Given the description of an element on the screen output the (x, y) to click on. 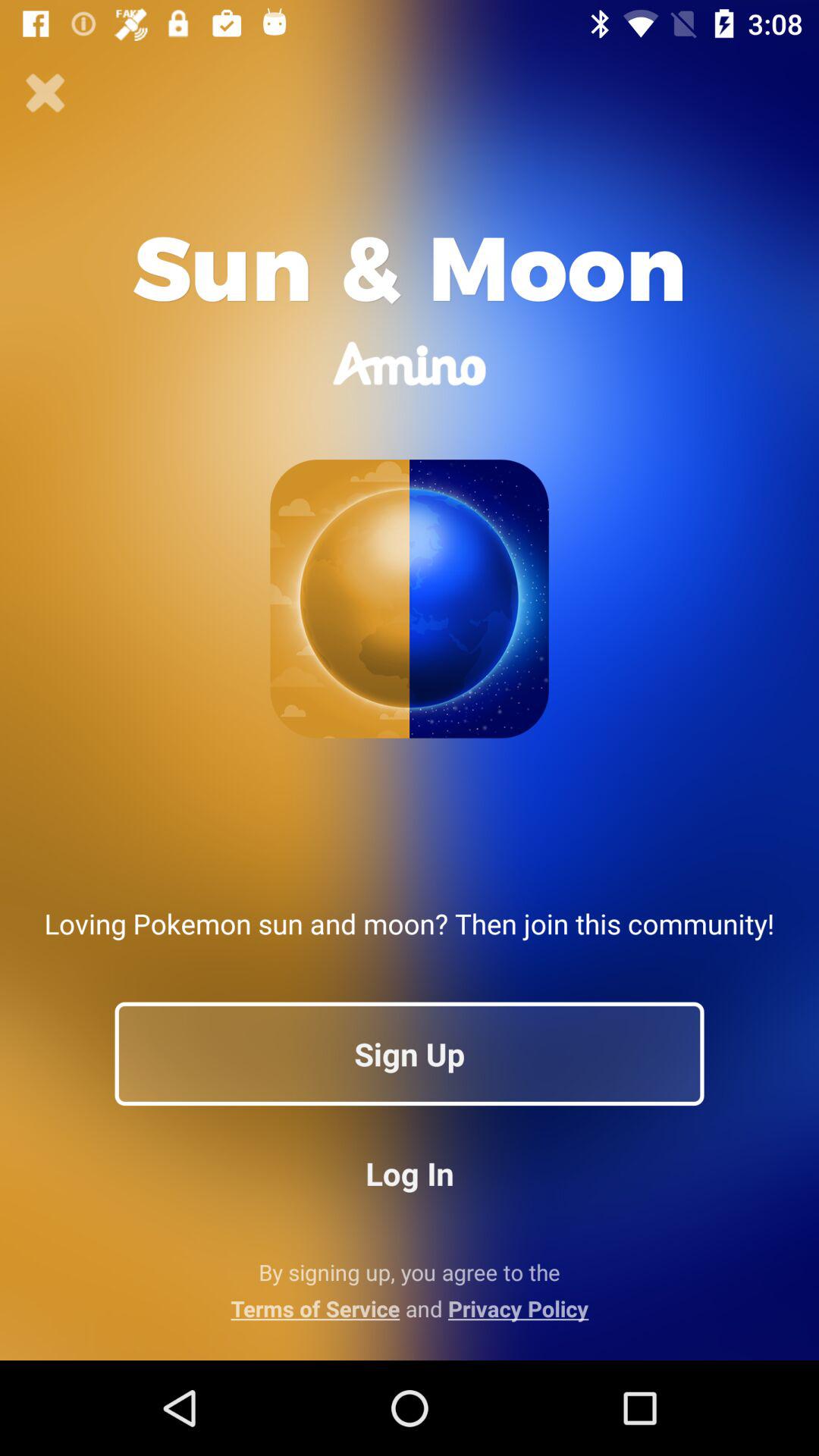
scroll to the terms of service app (409, 1308)
